Given the description of an element on the screen output the (x, y) to click on. 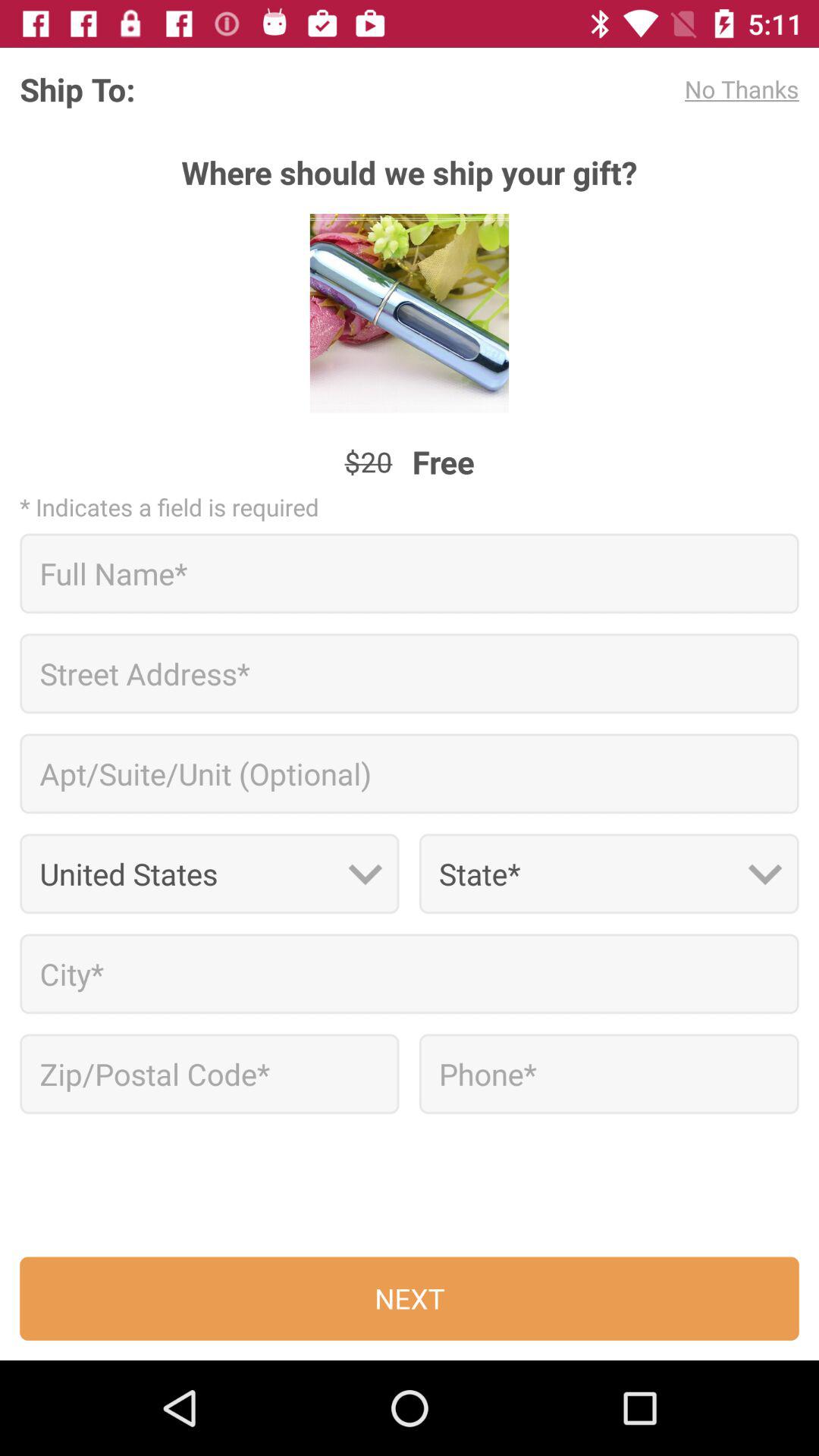
enter the phone number (609, 1073)
